Given the description of an element on the screen output the (x, y) to click on. 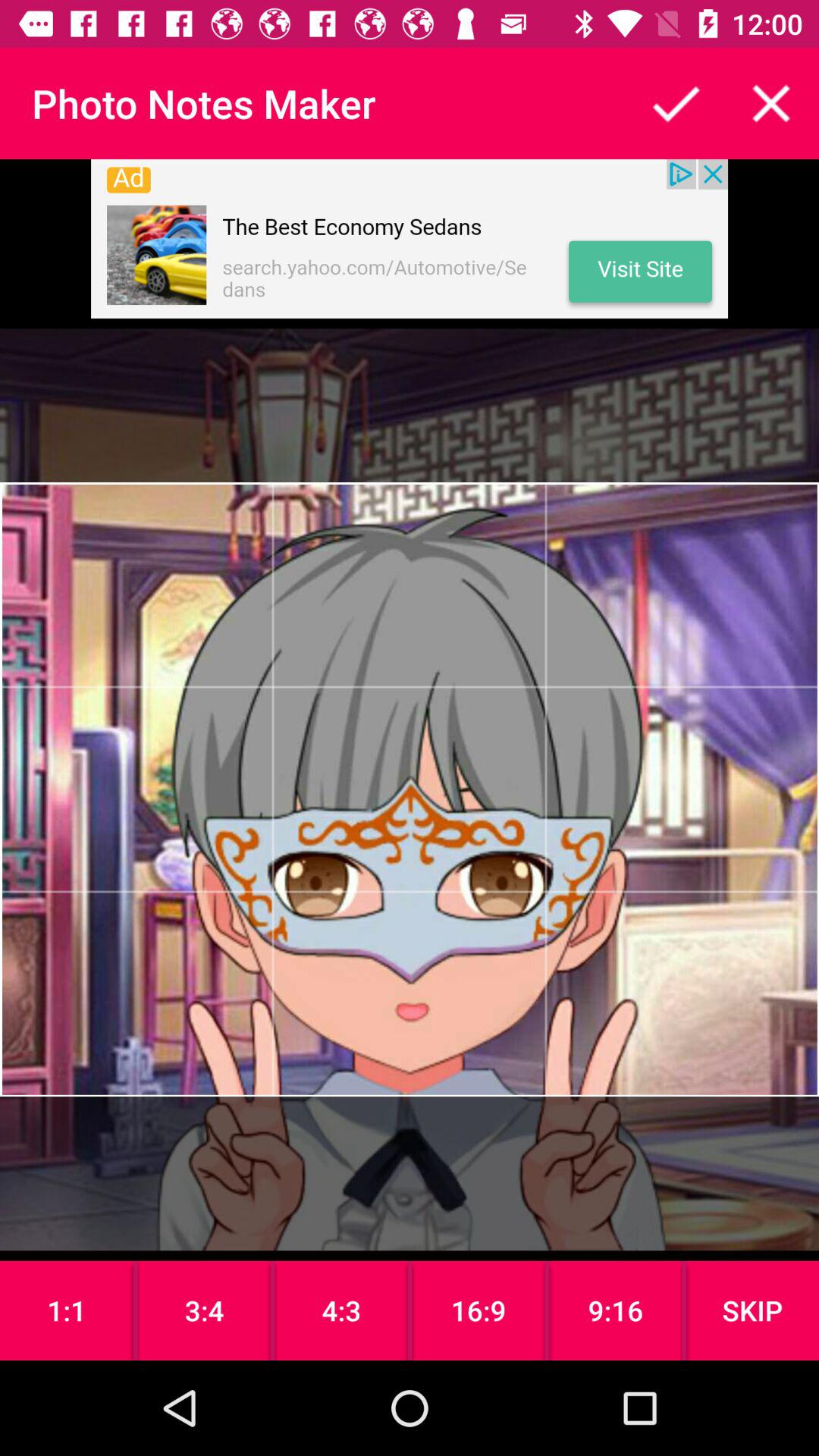
accept (675, 103)
